Given the description of an element on the screen output the (x, y) to click on. 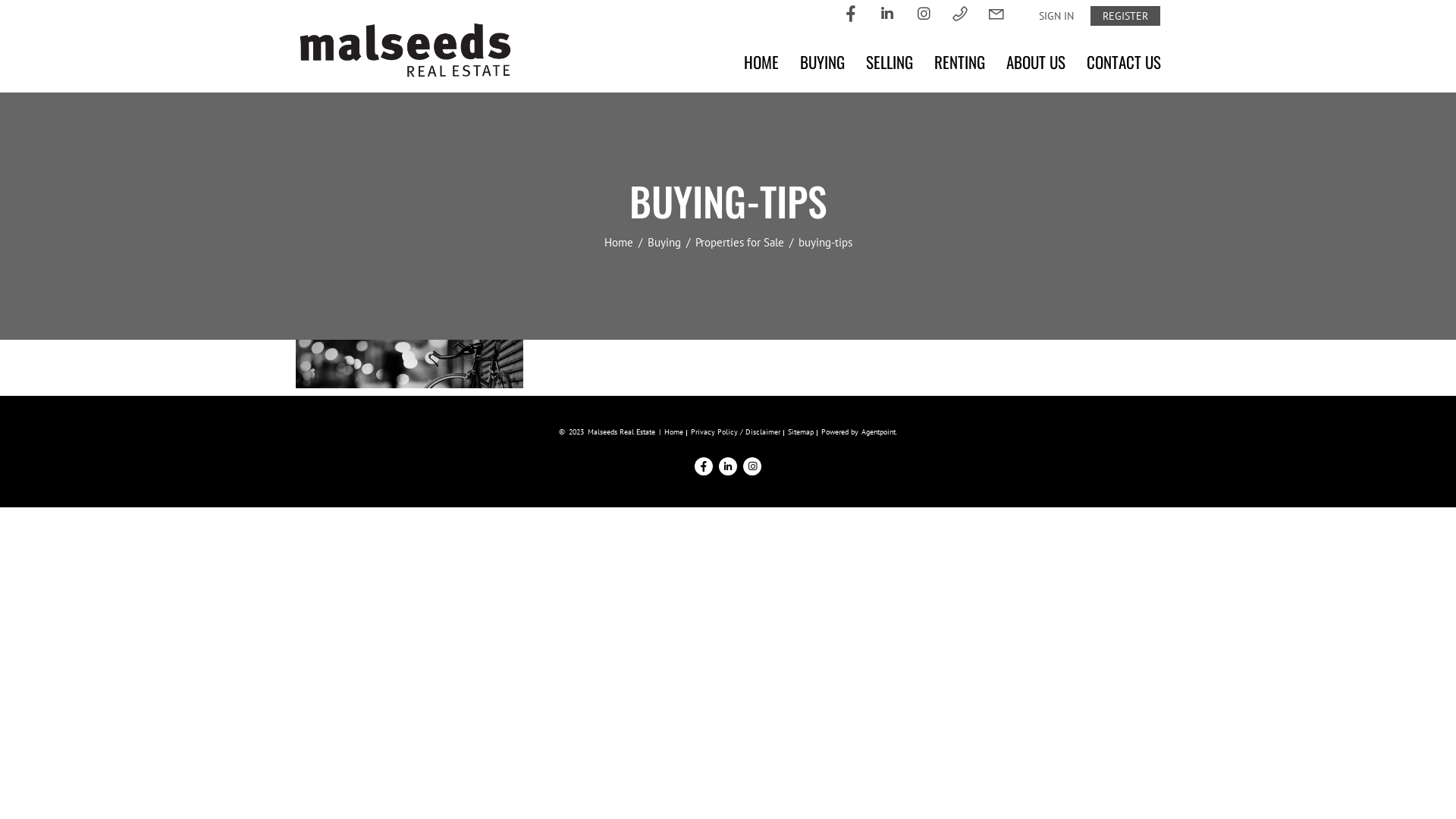
RENTING Element type: text (959, 61)
Buying Element type: text (665, 242)
Properties for Sale Element type: text (740, 242)
Privacy Policy / Disclaimer Element type: text (735, 431)
SIGN IN Element type: text (1055, 15)
ABOUT US Element type: text (1035, 61)
Home Element type: text (673, 431)
Home Element type: text (619, 242)
BUYING Element type: text (822, 61)
HOME Element type: text (761, 61)
Sitemap Element type: text (800, 431)
CONTACT US Element type: text (1123, 61)
REGISTER Element type: text (1125, 15)
SELLING Element type: text (889, 61)
Agentpoint Element type: text (878, 431)
